Given the description of an element on the screen output the (x, y) to click on. 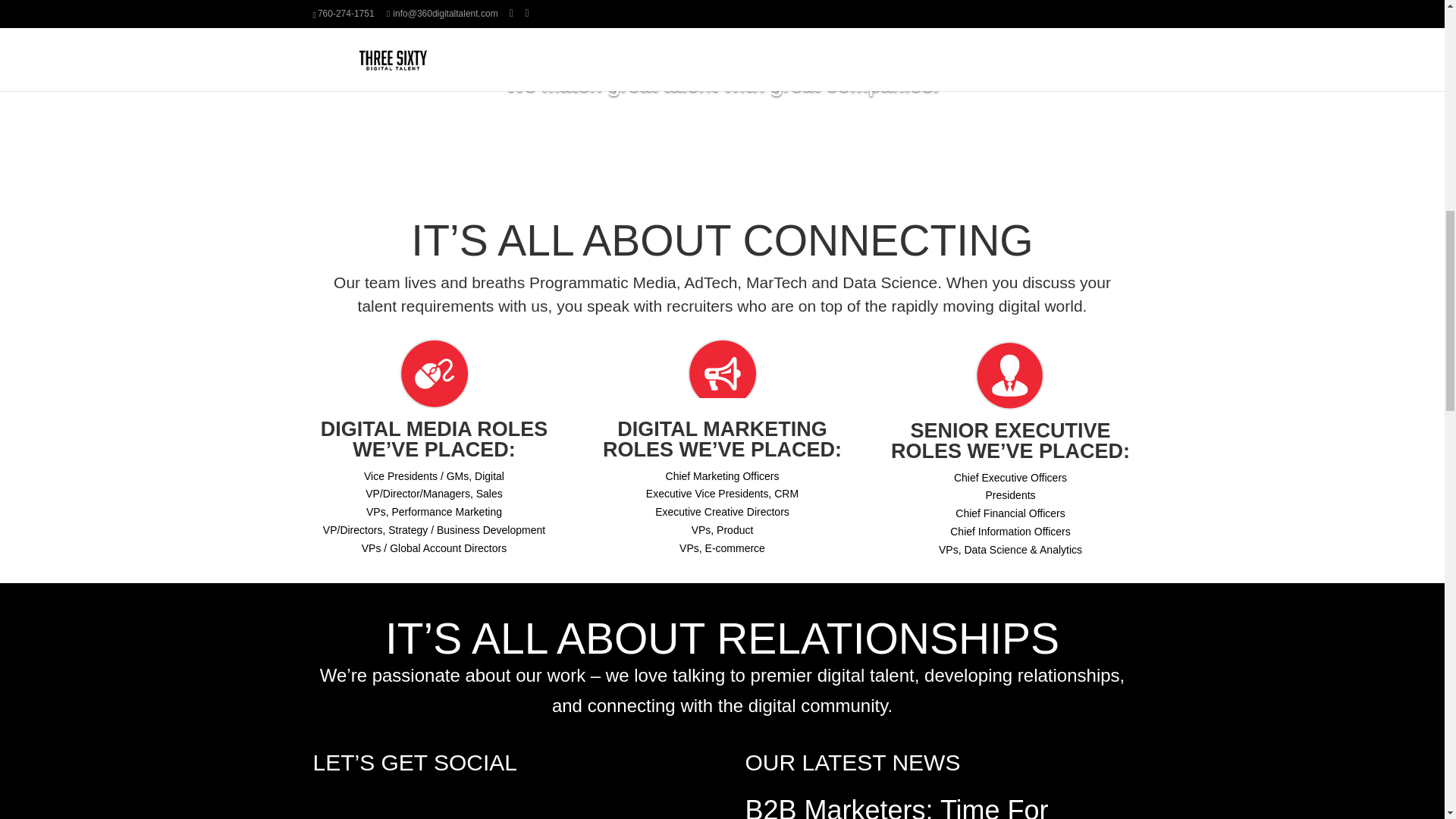
B2B Marketers: Time For Mobilegeddon (896, 806)
Learn More About Us (721, 142)
